Given the description of an element on the screen output the (x, y) to click on. 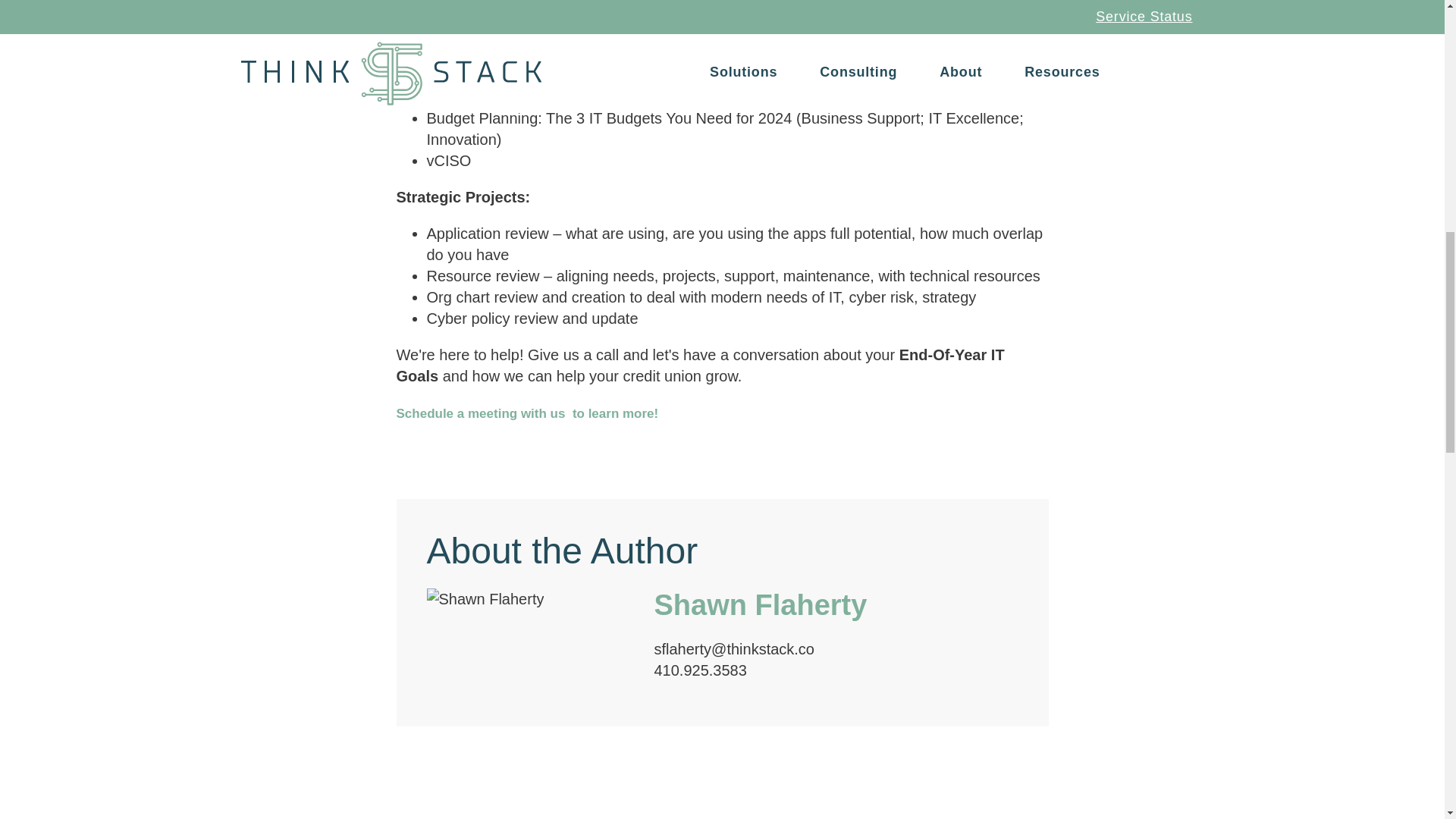
Schedule a meeting with us  to learn more! (527, 413)
